Given the description of an element on the screen output the (x, y) to click on. 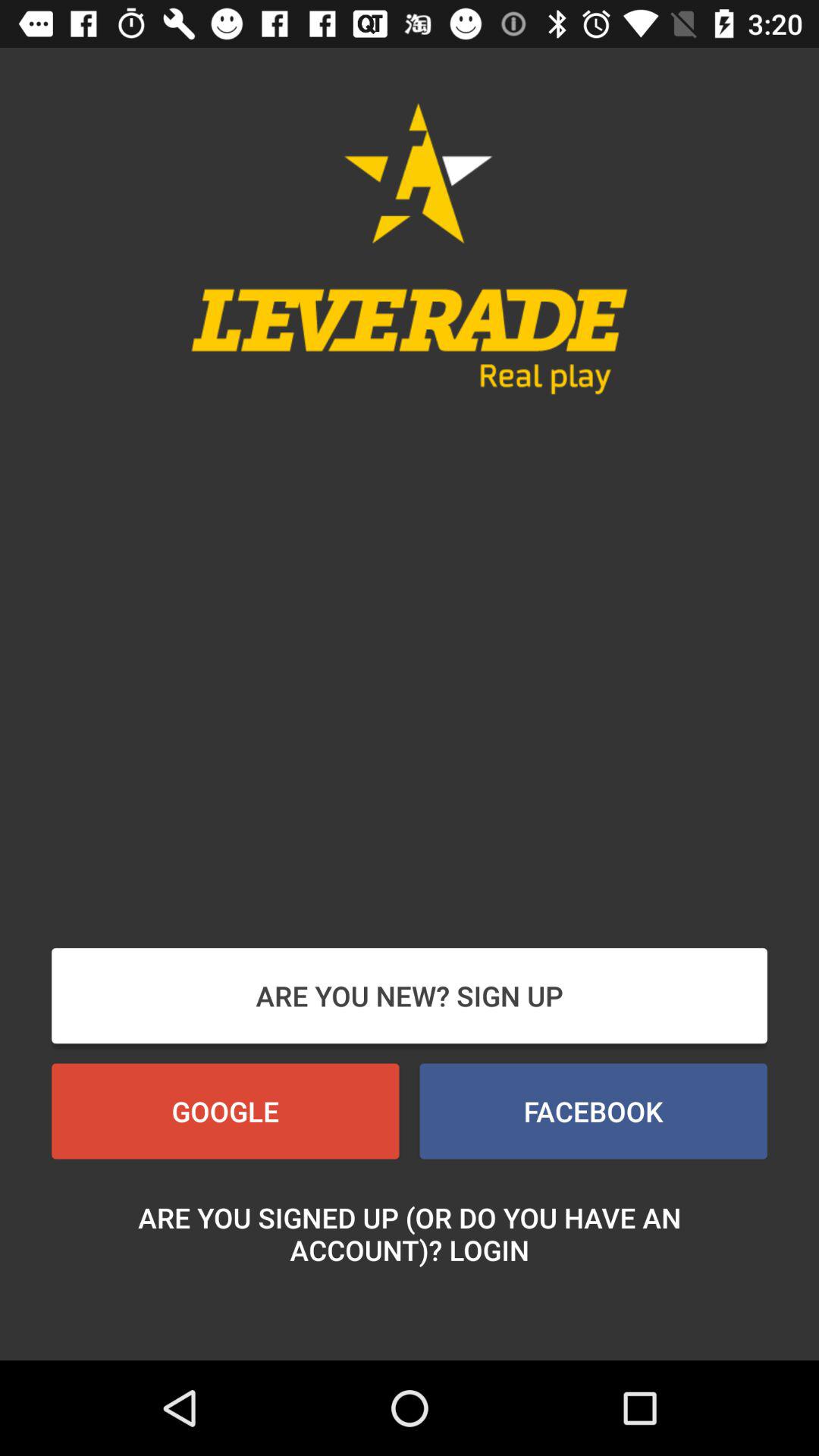
launch the button below the are you new button (225, 1111)
